Given the description of an element on the screen output the (x, y) to click on. 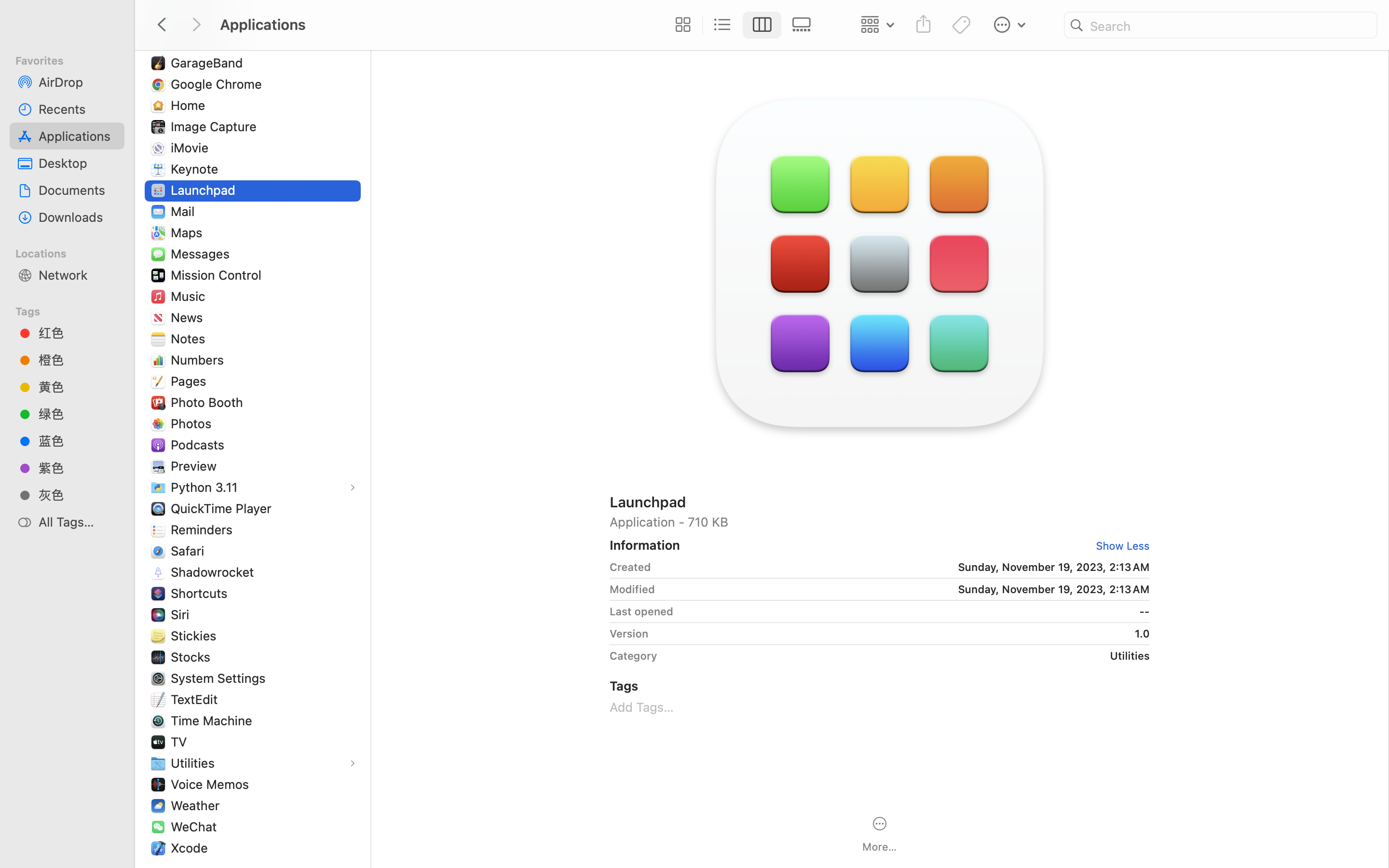
0 Element type: AXRadioButton (680, 24)
Stickies Element type: AXTextField (195, 635)
Photo Booth Element type: AXTextField (208, 401)
Network Element type: AXStaticText (77, 274)
TV Element type: AXTextField (180, 741)
